Given the description of an element on the screen output the (x, y) to click on. 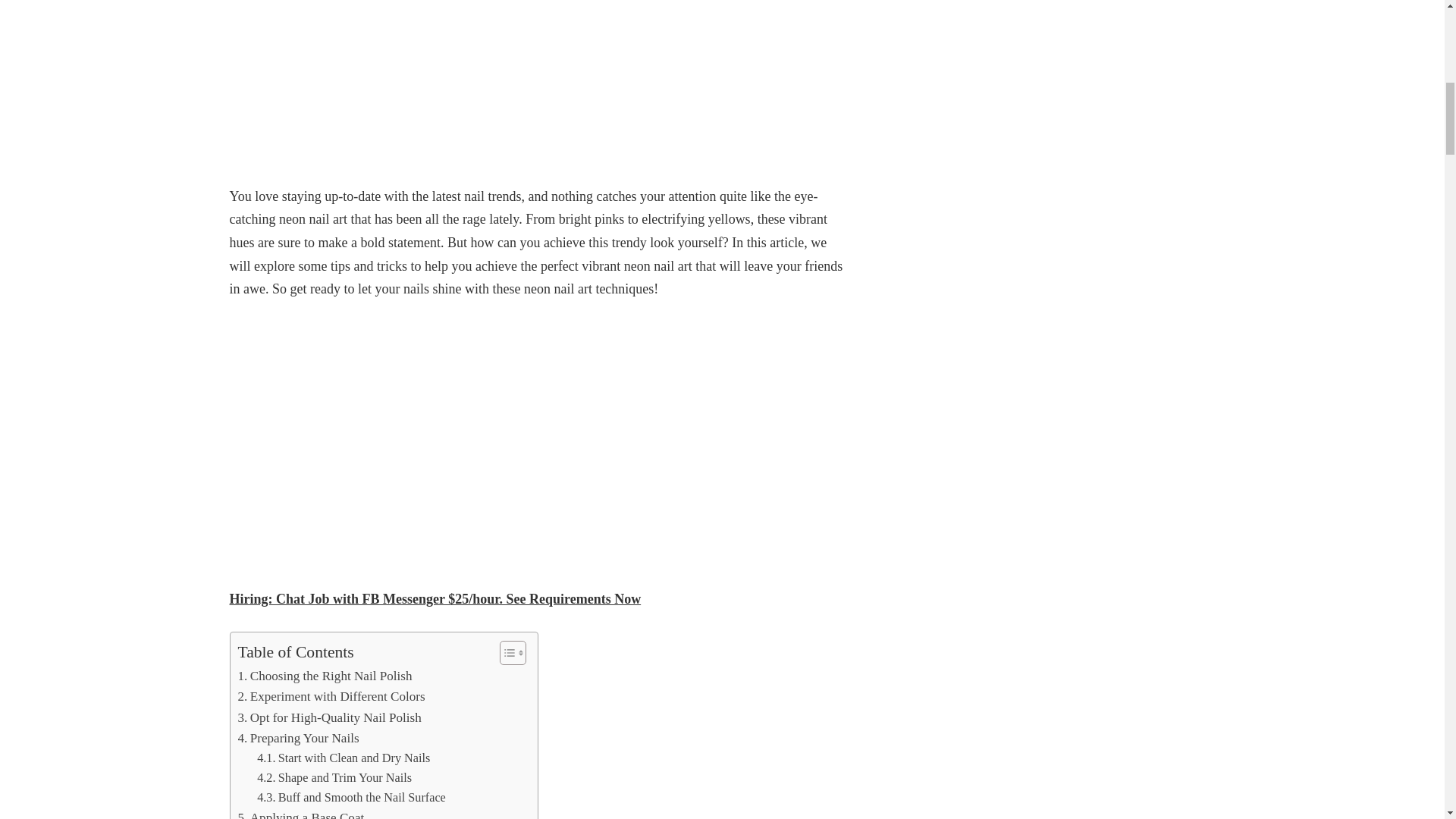
Start with Clean and Dry Nails (343, 758)
Preparing Your Nails (298, 738)
Applying a Base Coat (301, 813)
Experiment with Different Colors (331, 696)
Start with Clean and Dry Nails (343, 758)
Shape and Trim Your Nails (334, 777)
Choosing the Right Nail Polish (325, 675)
Opt for High-Quality Nail Polish (330, 717)
Applying a Base Coat (301, 813)
Choosing the Right Nail Polish (325, 675)
